Given the description of an element on the screen output the (x, y) to click on. 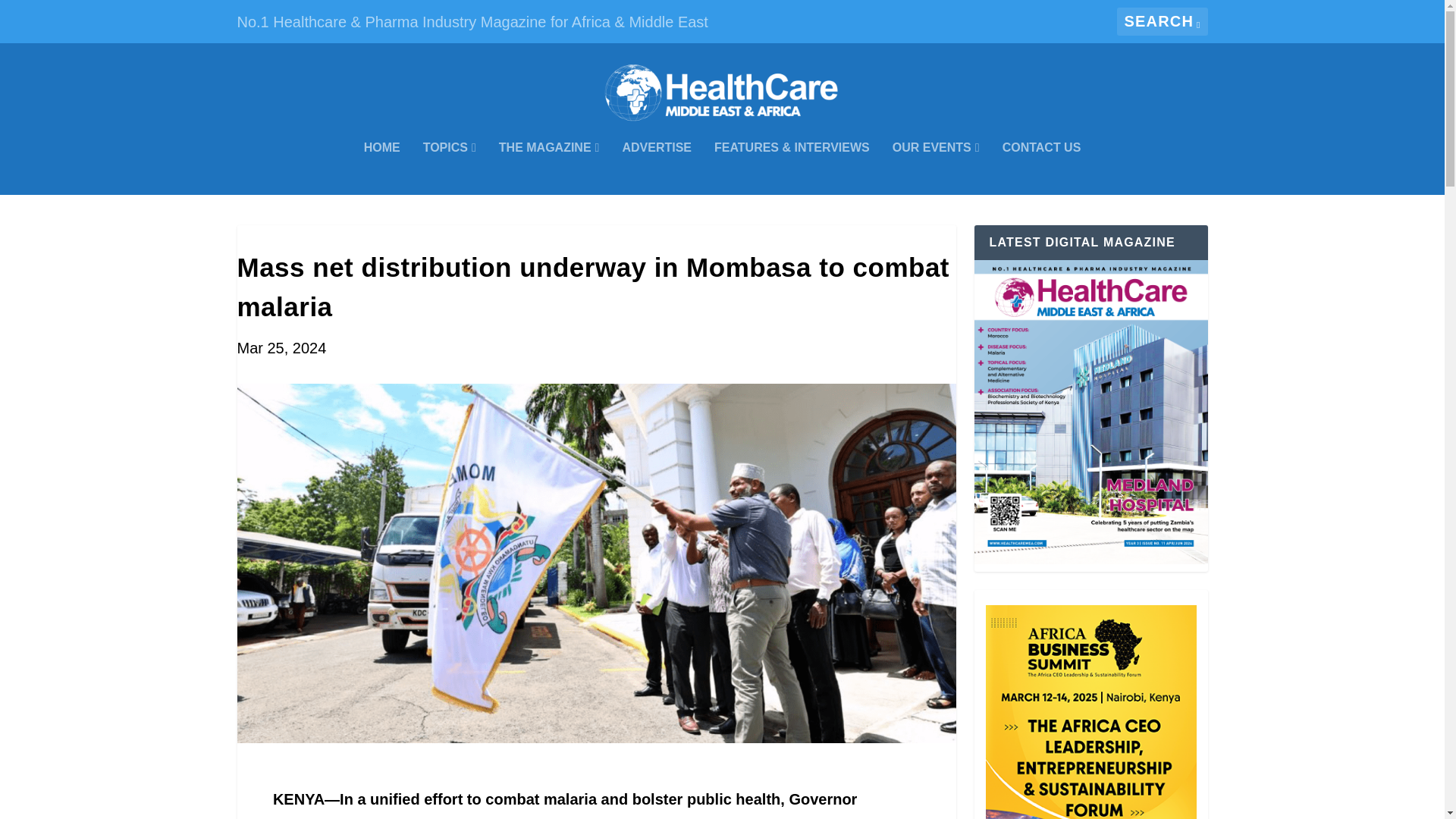
THE MAGAZINE (549, 167)
Search for: (1161, 21)
OUR EVENTS (935, 167)
ADVERTISE (656, 167)
CONTACT US (1042, 167)
TOPICS (449, 167)
OUR EVENTS (935, 167)
